Given the description of an element on the screen output the (x, y) to click on. 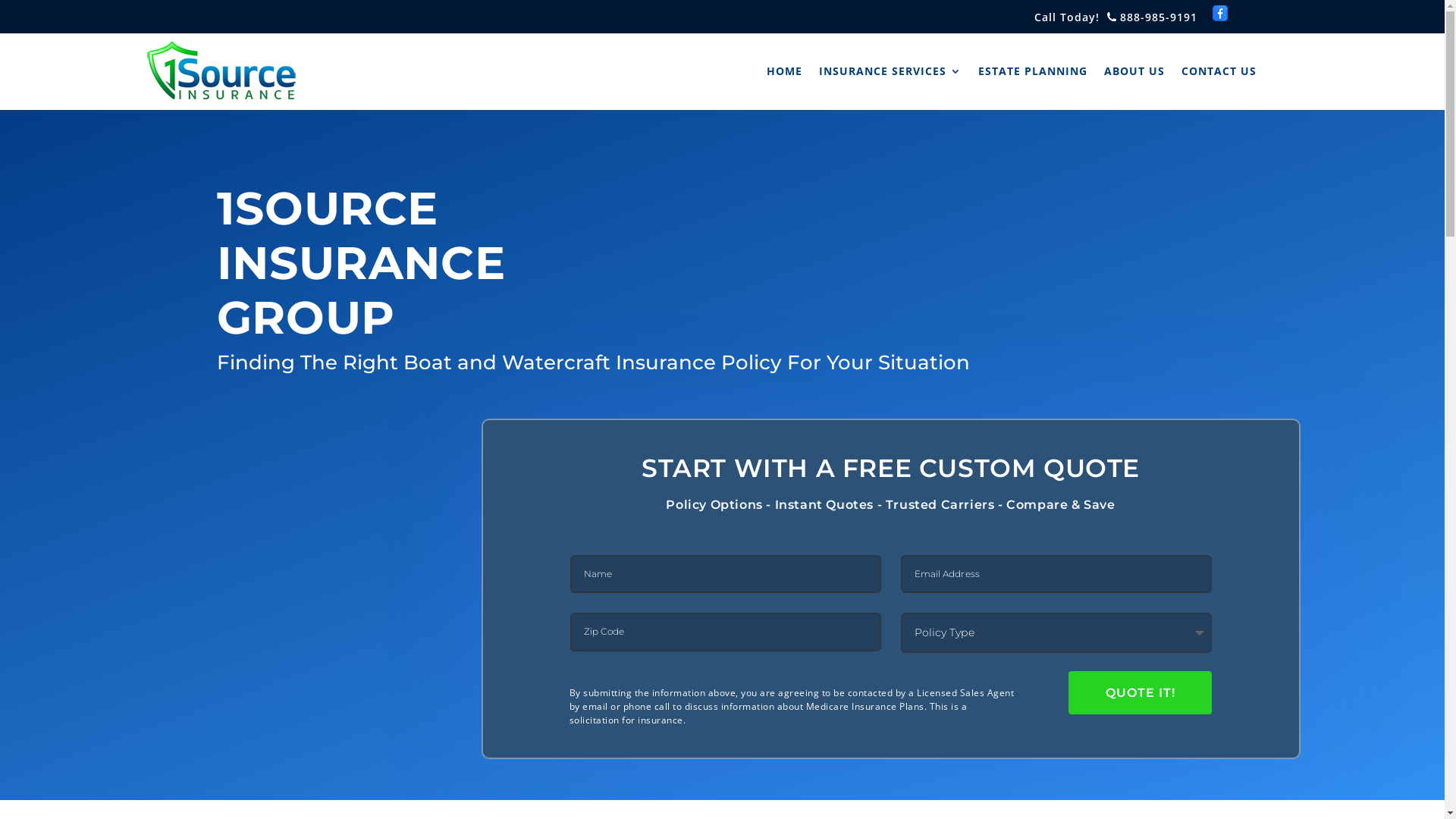
ABOUT US Element type: text (1134, 71)
HOME Element type: text (784, 71)
CONTACT US Element type: text (1218, 71)
INSURANCE SERVICES Element type: text (890, 71)
Only letters allowed.Minimum length: 7 characters.  Element type: hover (725, 574)
Only numbers allowed.Minimum length: 5 characters.  Element type: hover (725, 631)
  888-985-9191 Element type: text (1150, 16)
ESTATE PLANNING Element type: text (1032, 71)
QUOTE IT! Element type: text (1139, 692)
